Given the description of an element on the screen output the (x, y) to click on. 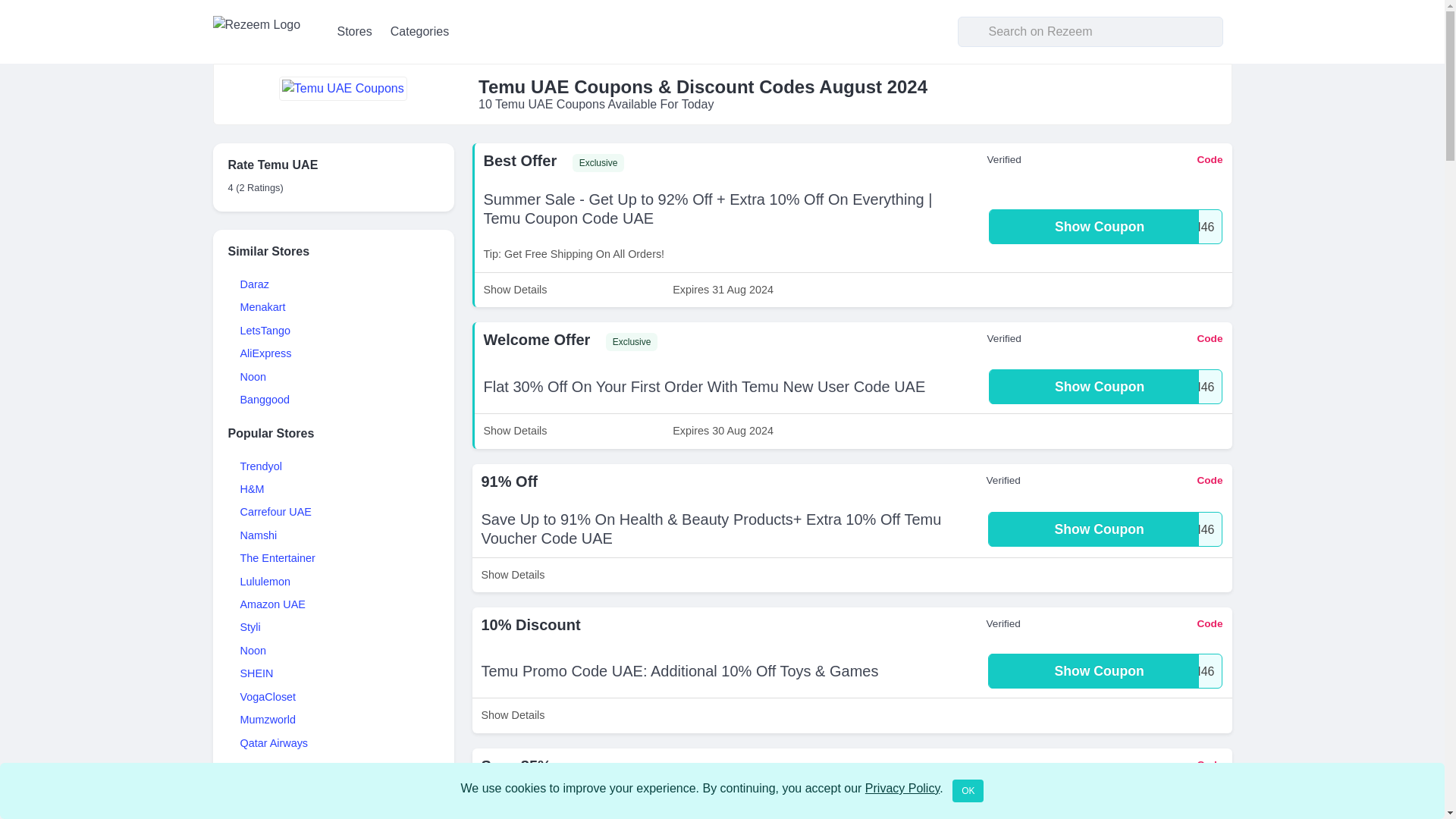
Amazon UAE Offers (272, 604)
Daraz (253, 284)
VogaCloset (267, 696)
Styli (250, 626)
SHEIN (256, 673)
Carrefour UAE Offers (275, 511)
Trendyol (260, 466)
AliExpress Coupons (265, 353)
Lululemon Offers (264, 581)
Menakart (262, 306)
Trendyol Offers (260, 466)
Amazon UAE (1105, 226)
The Entertainer Offers (272, 604)
The Entertainer (277, 558)
